Given the description of an element on the screen output the (x, y) to click on. 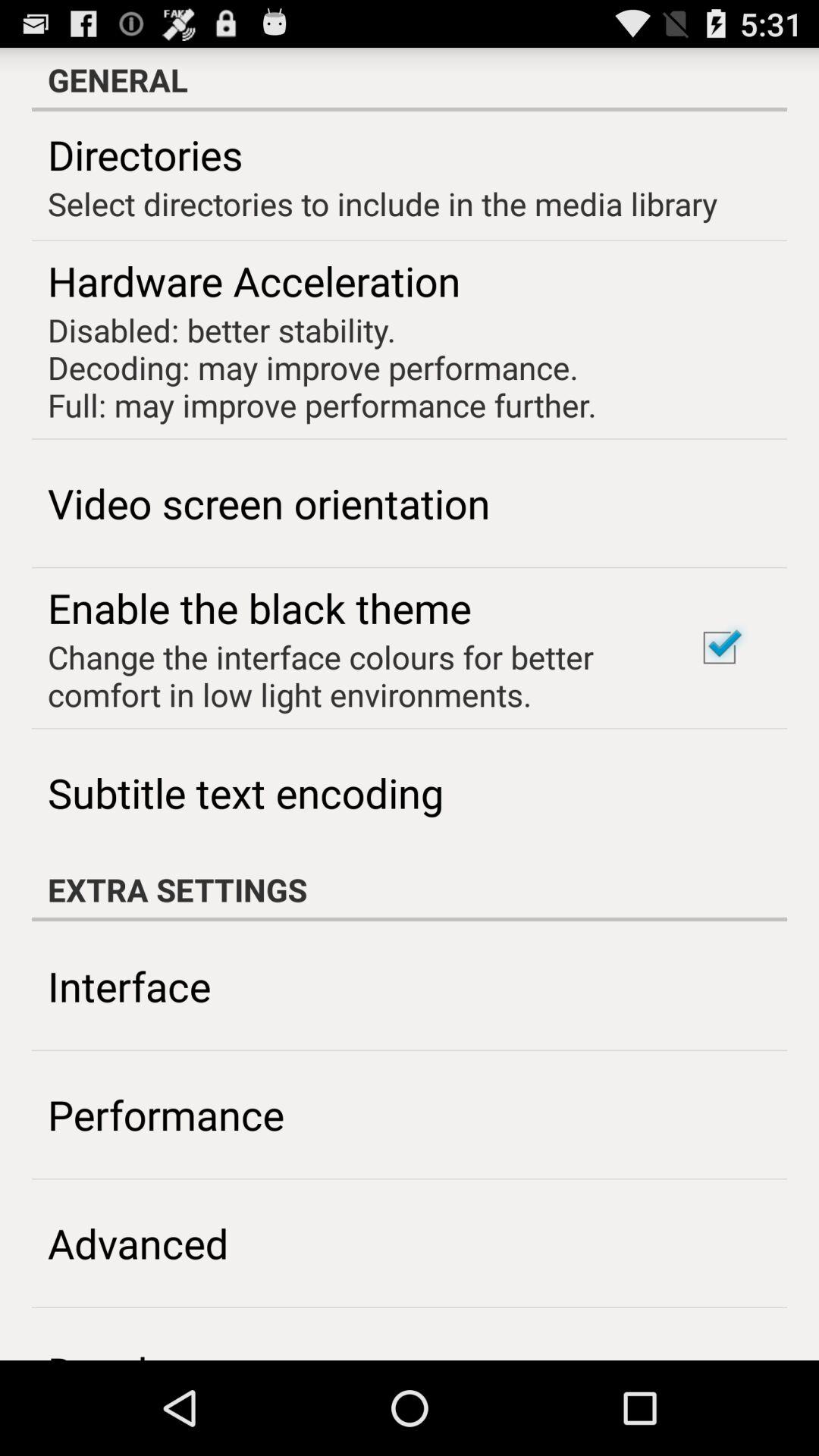
swipe until the select directories to app (382, 203)
